Given the description of an element on the screen output the (x, y) to click on. 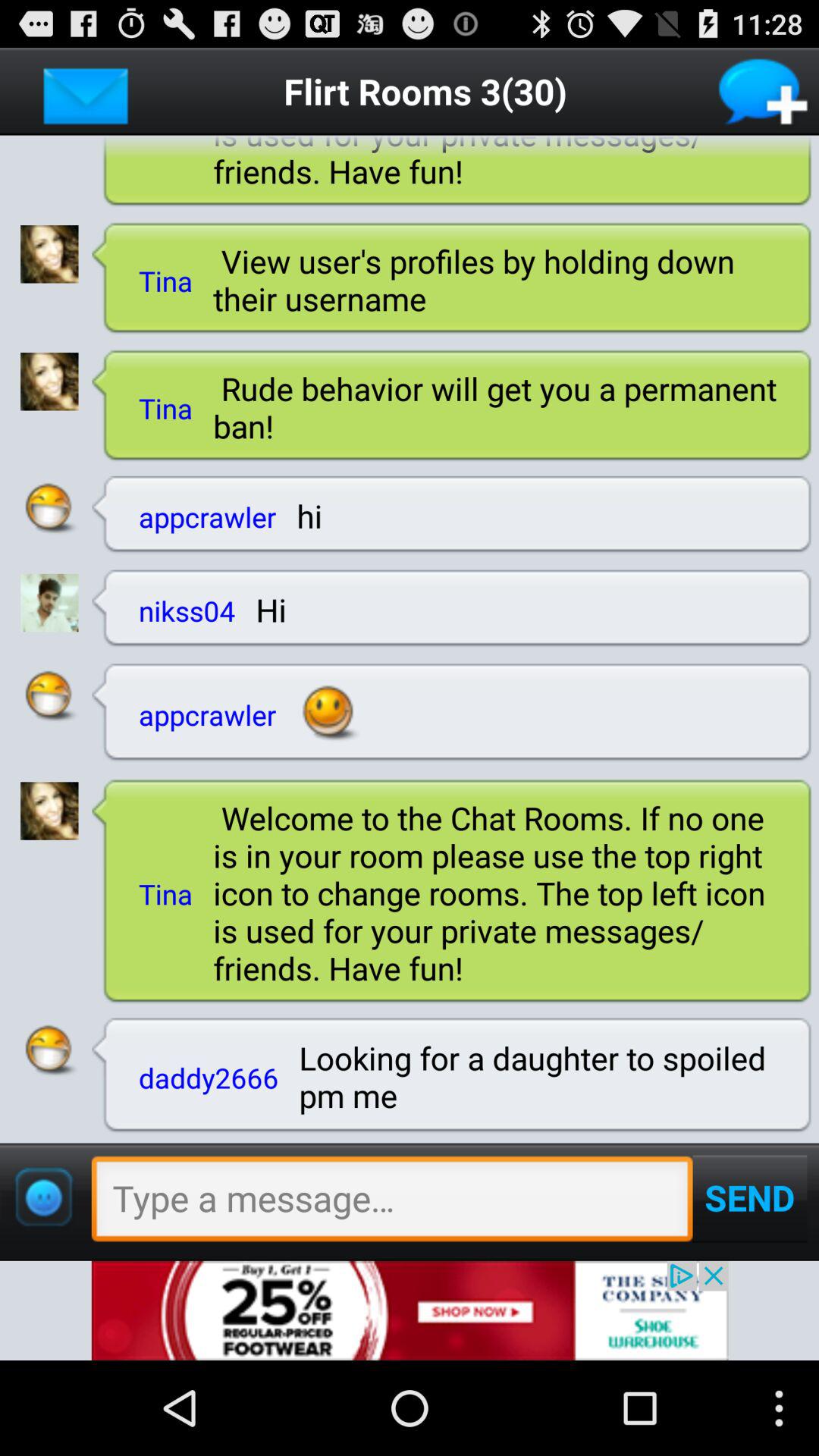
open advertisement (409, 1310)
